Given the description of an element on the screen output the (x, y) to click on. 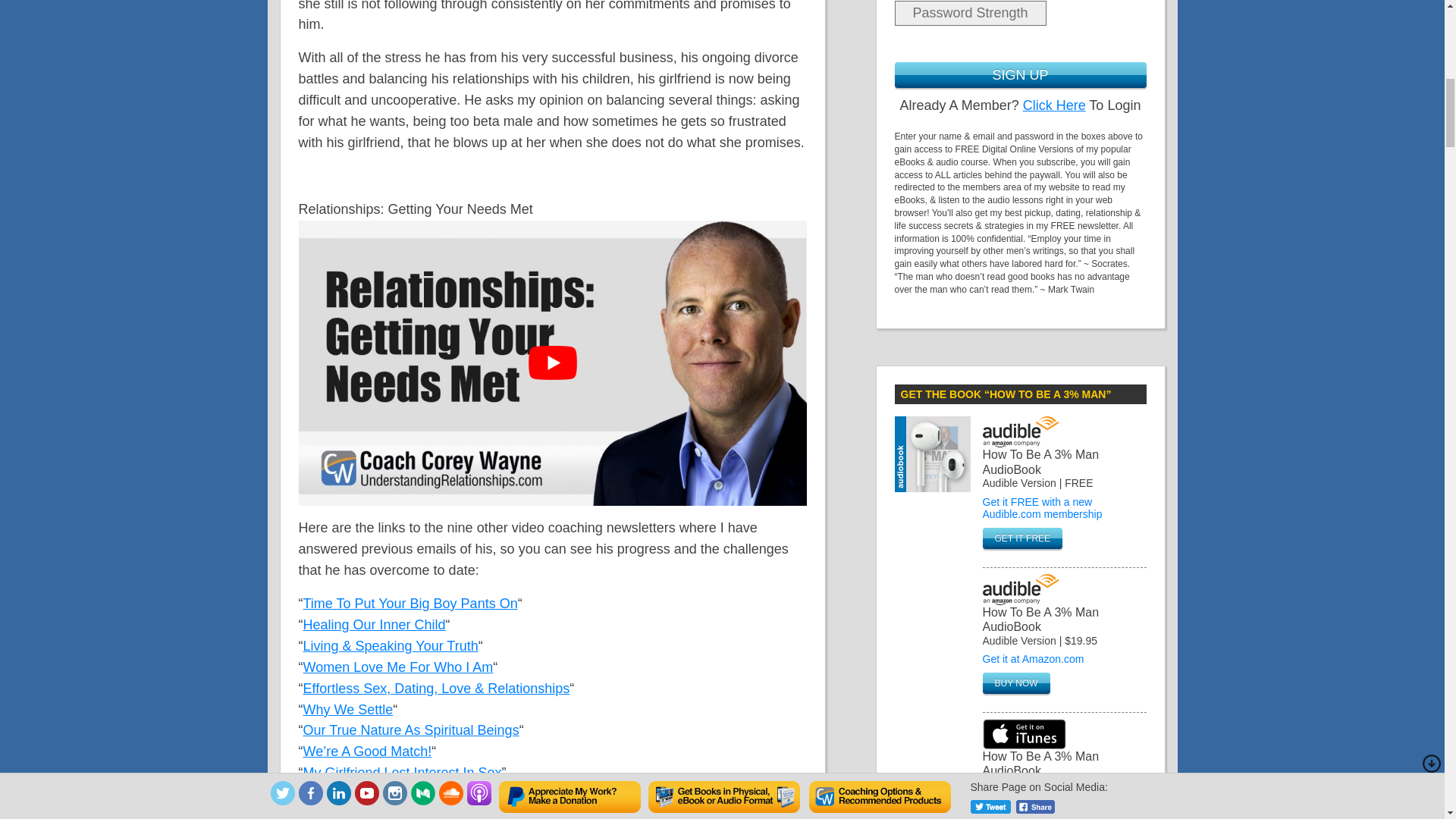
Click Here (1054, 105)
Sign Up (1021, 74)
Sign Up (1021, 74)
